Given the description of an element on the screen output the (x, y) to click on. 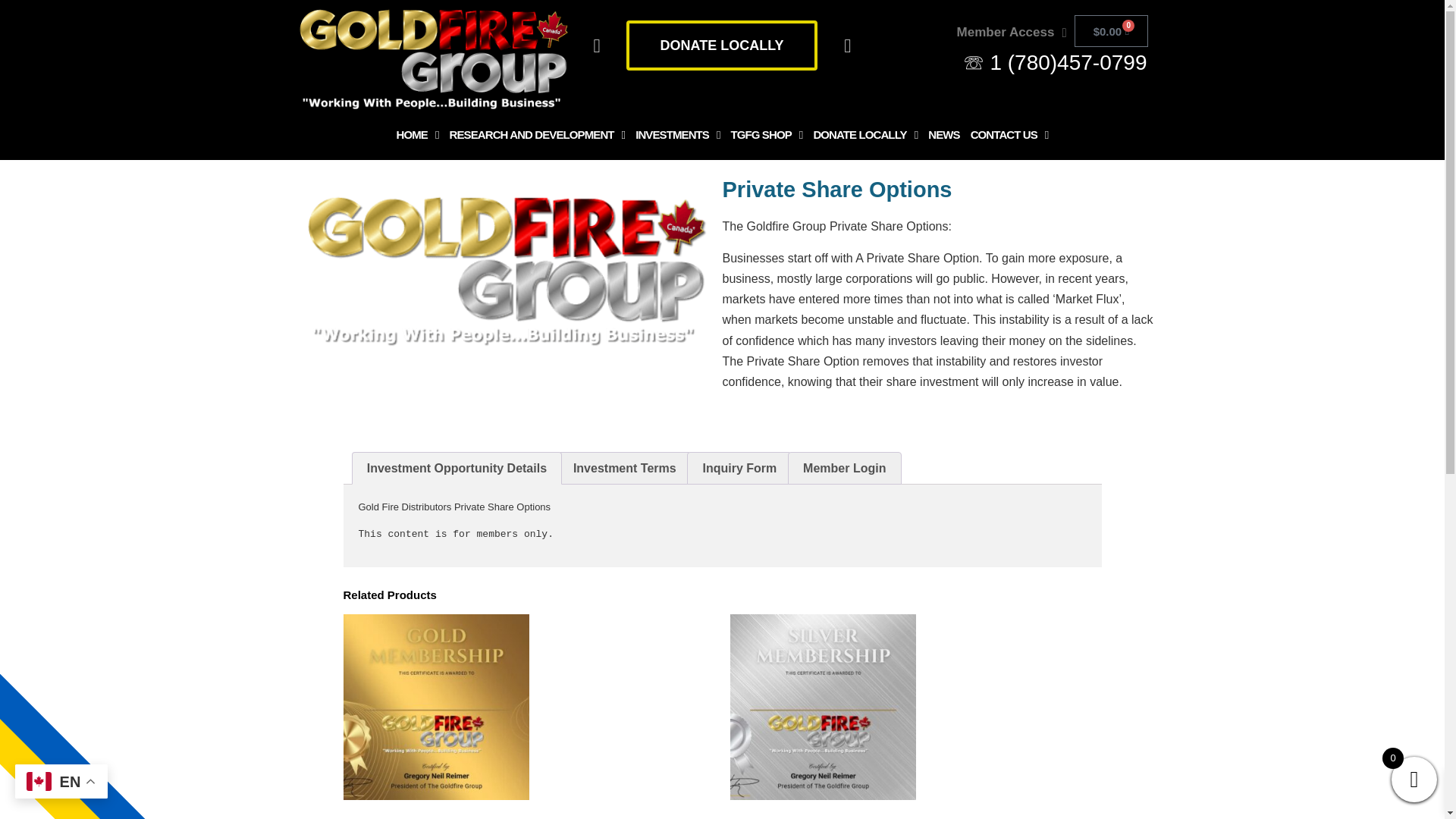
Member Access (1011, 32)
CONTACT US (1009, 134)
RESEARCH AND DEVELOPMENT (537, 134)
DONATE LOCALLY (865, 134)
We stand with Ukraine (88, 700)
HOME (417, 134)
NEWS (943, 134)
DONATE LOCALLY (722, 45)
INVESTMENTS (677, 134)
TGFG SHOP (766, 134)
